Given the description of an element on the screen output the (x, y) to click on. 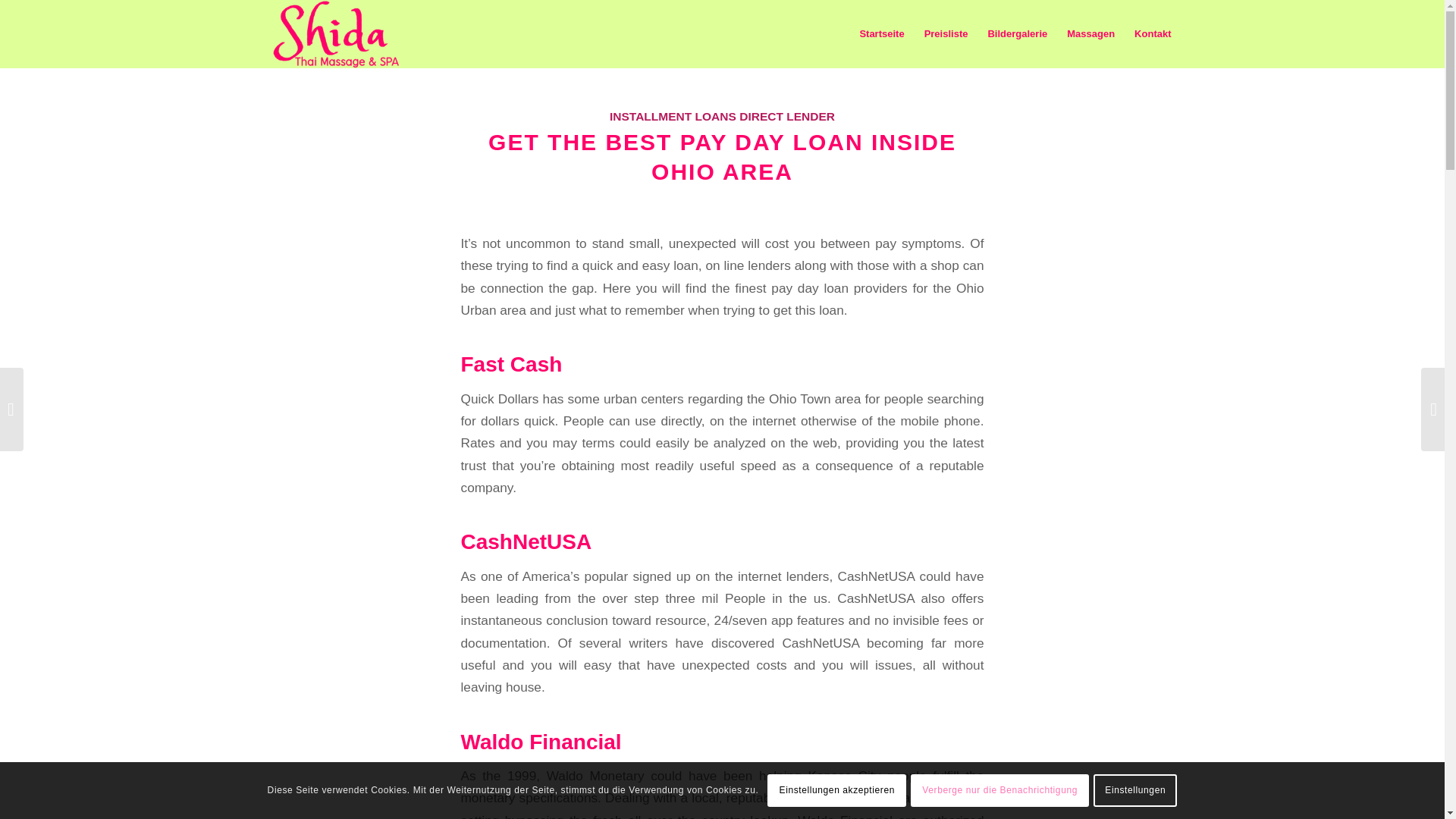
Massagen (1090, 33)
Preisliste (946, 33)
Einstellungen akzeptieren (836, 789)
Bildergalerie (1016, 33)
GET THE BEST PAY DAY LOAN INSIDE OHIO AREA (721, 156)
Startseite (881, 33)
Einstellungen (1134, 789)
